Given the description of an element on the screen output the (x, y) to click on. 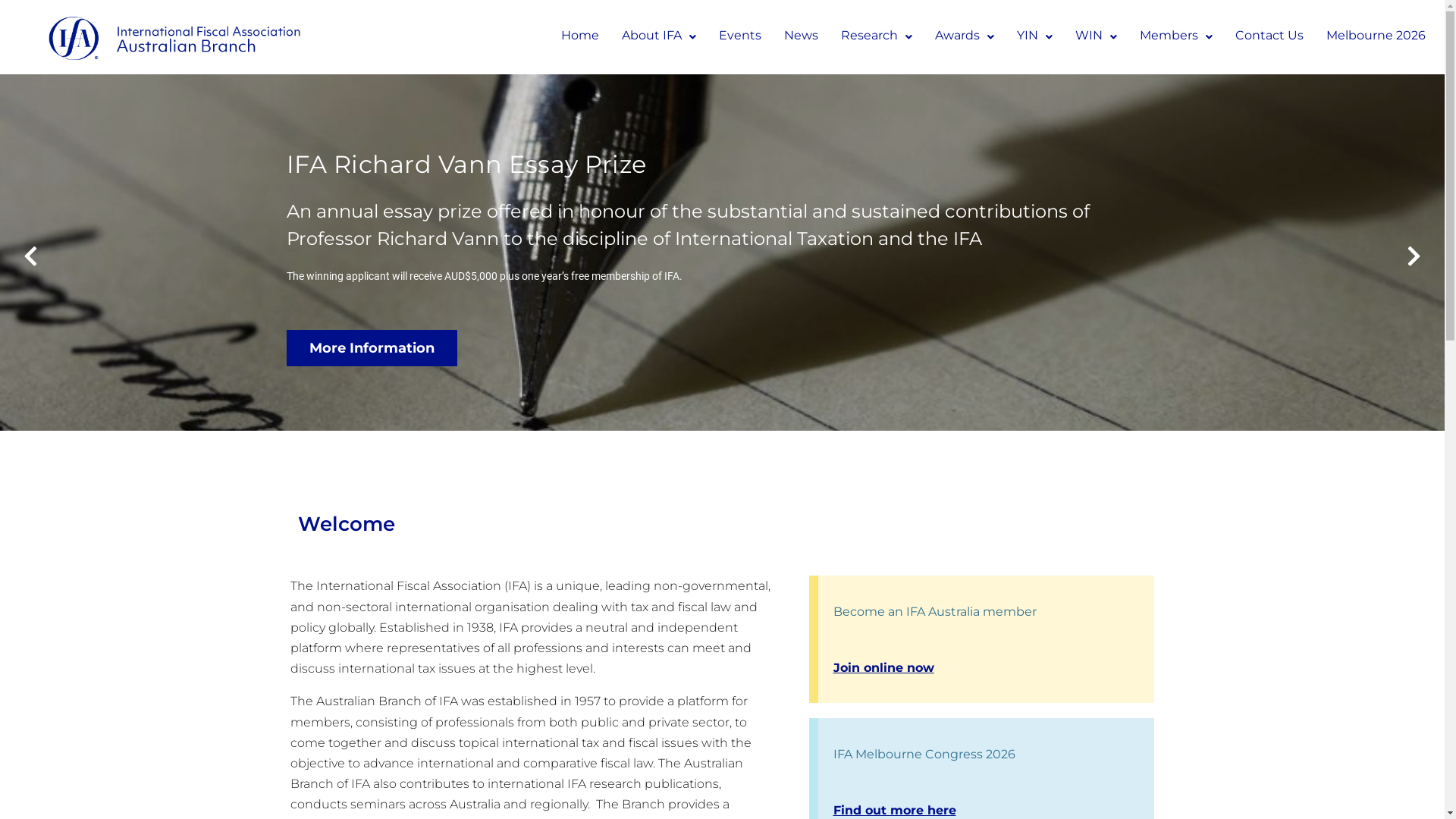
About IFA Element type: text (658, 36)
Melbourne 2026 Element type: text (1375, 36)
Events Element type: text (739, 36)
More Information Element type: text (371, 347)
Home Element type: text (579, 36)
Members Element type: text (1175, 36)
Research Element type: text (876, 36)
News Element type: text (800, 36)
Awards Element type: text (964, 36)
WIN Element type: text (1095, 36)
Contact Us Element type: text (1268, 36)
YIN Element type: text (1034, 36)
Find out more here Element type: text (893, 810)
Join online now Element type: text (882, 667)
